Given the description of an element on the screen output the (x, y) to click on. 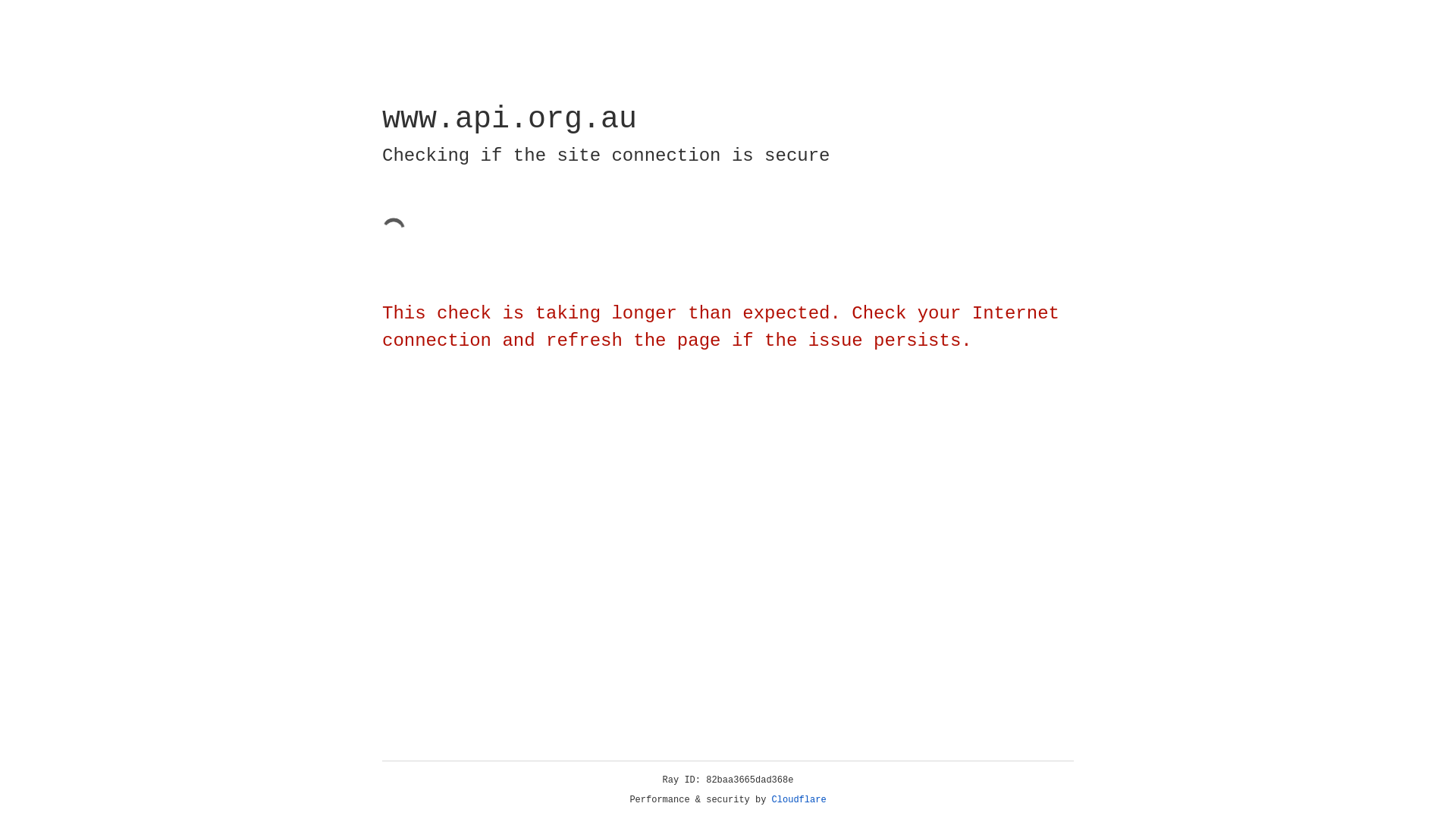
Cloudflare Element type: text (798, 799)
